Given the description of an element on the screen output the (x, y) to click on. 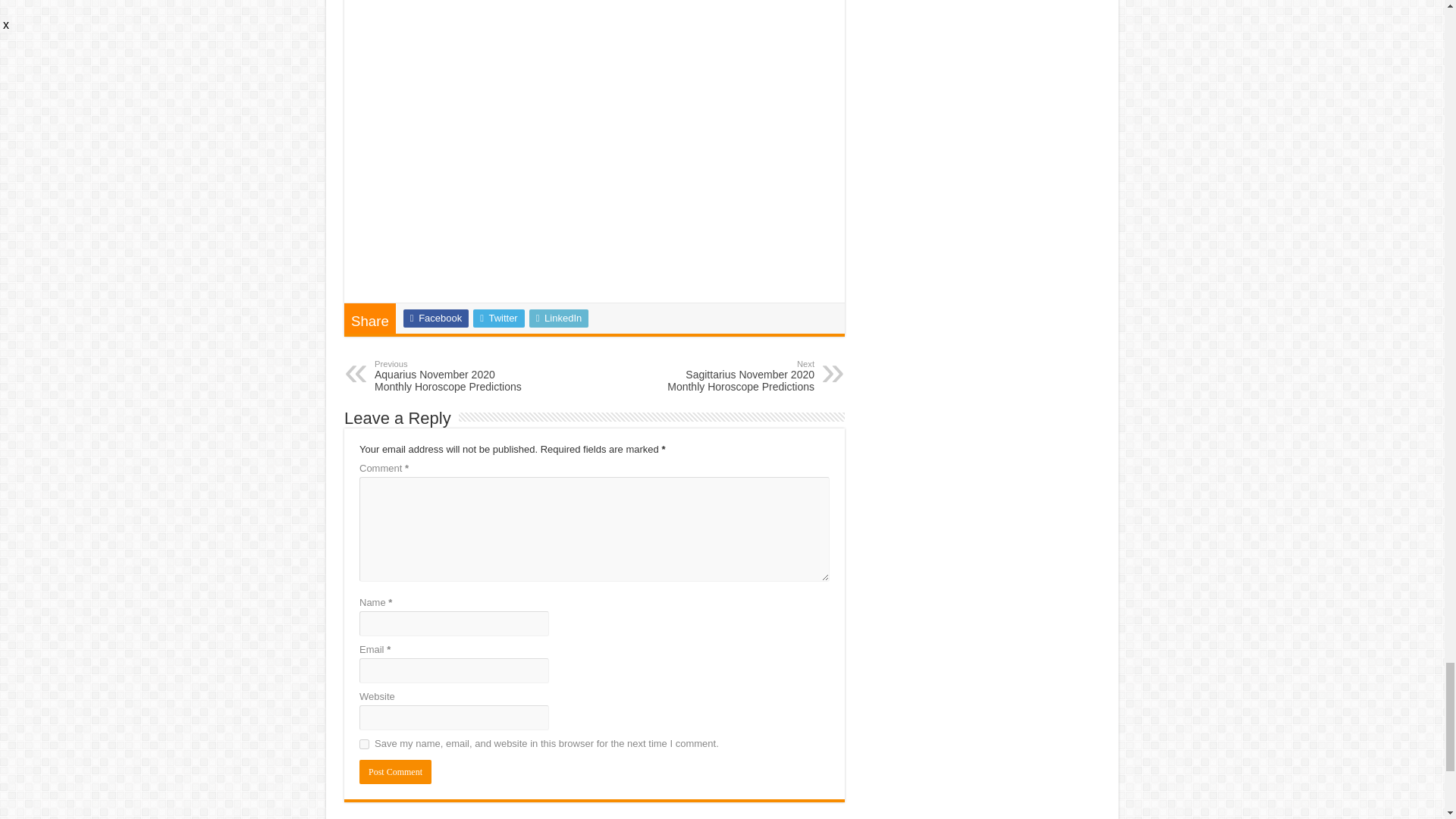
yes (364, 744)
Post Comment (394, 771)
